Given the description of an element on the screen output the (x, y) to click on. 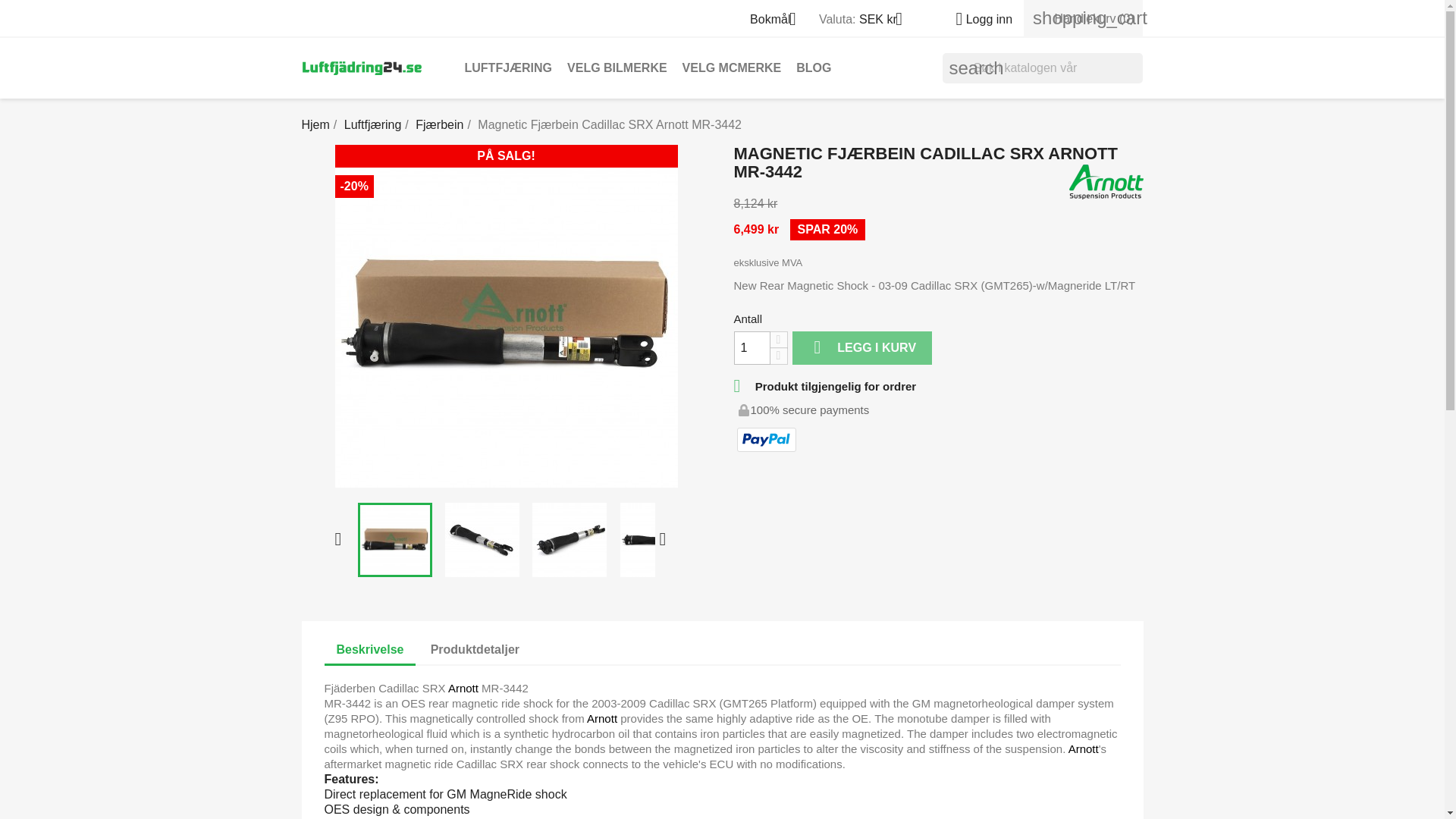
Display all products from ARNOTT (1105, 180)
Logg inn med din kundekonto (977, 19)
Arnott (601, 717)
Arnott (463, 687)
Arnott (1083, 748)
1 (751, 347)
